Given the description of an element on the screen output the (x, y) to click on. 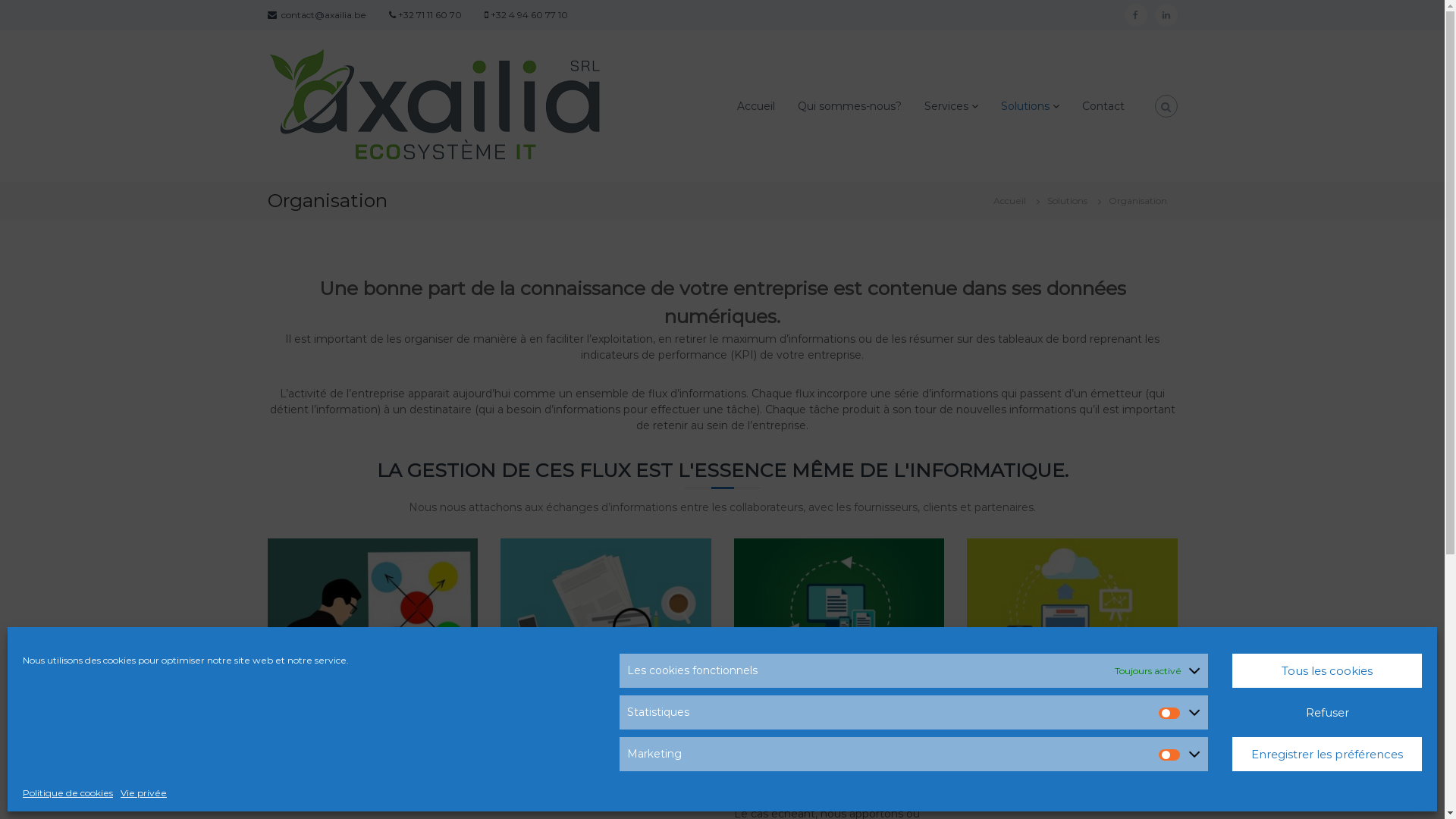
Services Element type: text (945, 105)
linkedin Element type: text (1165, 14)
Tous les cookies Element type: text (1326, 670)
Refuser Element type: text (1326, 712)
Solutions Element type: text (1066, 200)
Accueil Element type: text (1009, 200)
Solutions Element type: text (1025, 105)
Politique de cookies Element type: text (67, 793)
Contact Element type: text (1102, 105)
facebook Element type: text (1134, 14)
Qui sommes-nous? Element type: text (849, 105)
Axailia Element type: text (635, 93)
Accueil Element type: text (756, 105)
